Given the description of an element on the screen output the (x, y) to click on. 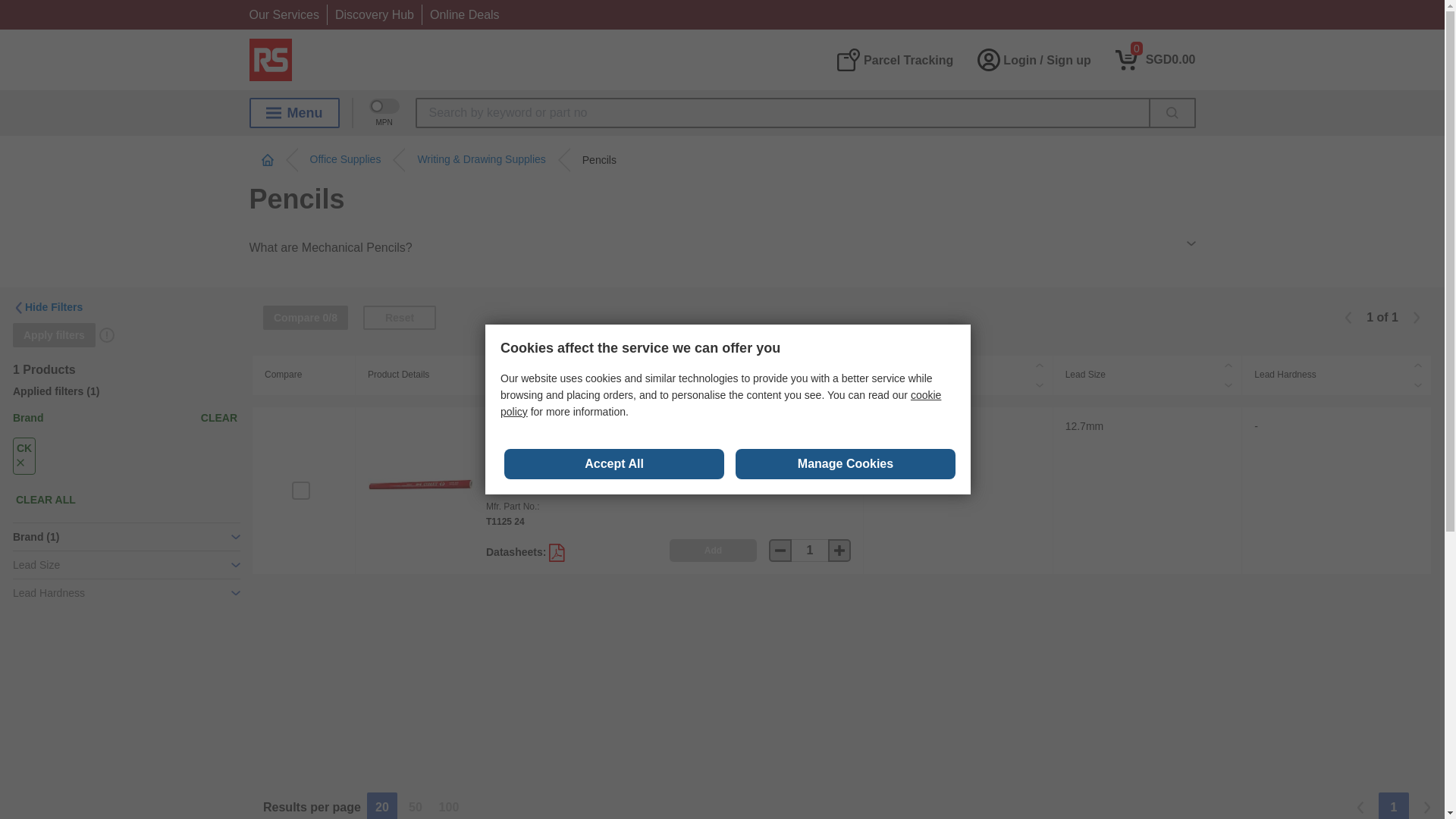
Online Deals (464, 14)
Our Services (283, 14)
Sort descending (1417, 384)
Sort ascending (1417, 365)
Sort descending (1039, 384)
Discovery Hub (373, 14)
Sort descending (850, 384)
Sort descending (1228, 384)
Sort ascending (850, 365)
Menu (293, 112)
on (299, 490)
Sort ascending (1039, 365)
0 (1155, 59)
1 (1155, 59)
